Given the description of an element on the screen output the (x, y) to click on. 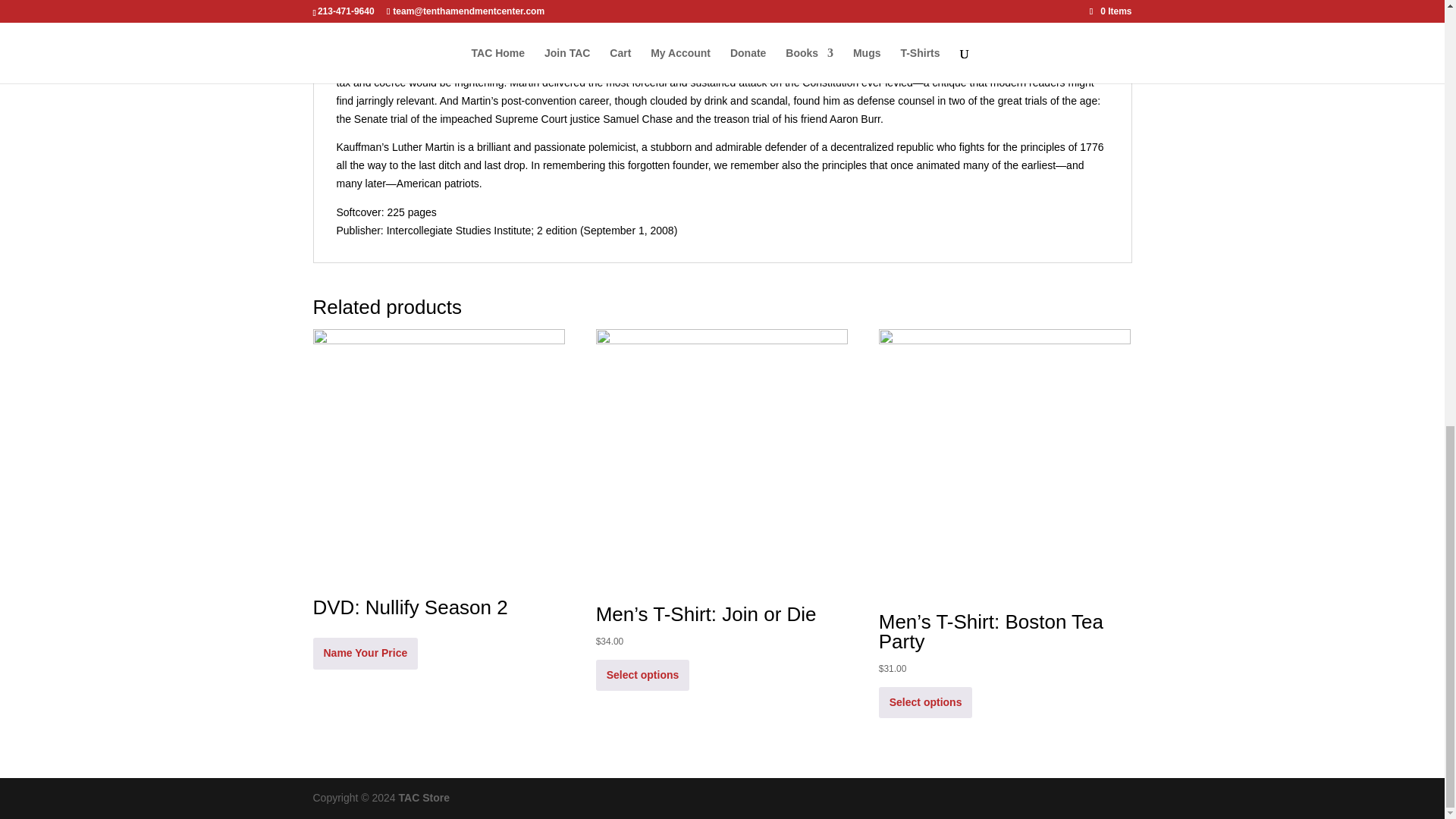
Select options (925, 702)
Select options (642, 675)
TAC Store (423, 797)
Name Your Price (365, 653)
